Given the description of an element on the screen output the (x, y) to click on. 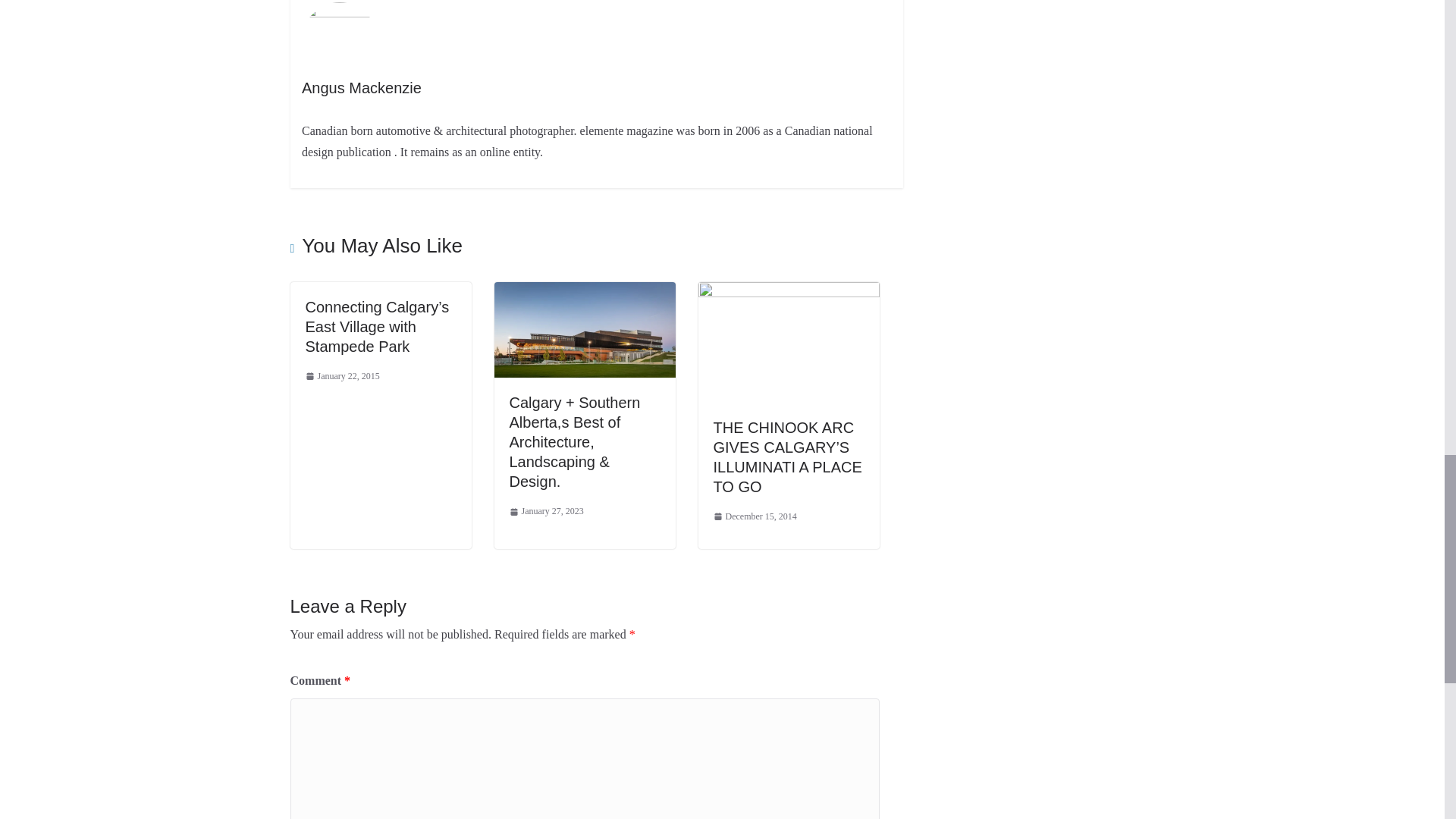
January 27, 2023 (546, 511)
January 22, 2015 (341, 376)
6:04 am (341, 376)
8:47 am (546, 511)
